Given the description of an element on the screen output the (x, y) to click on. 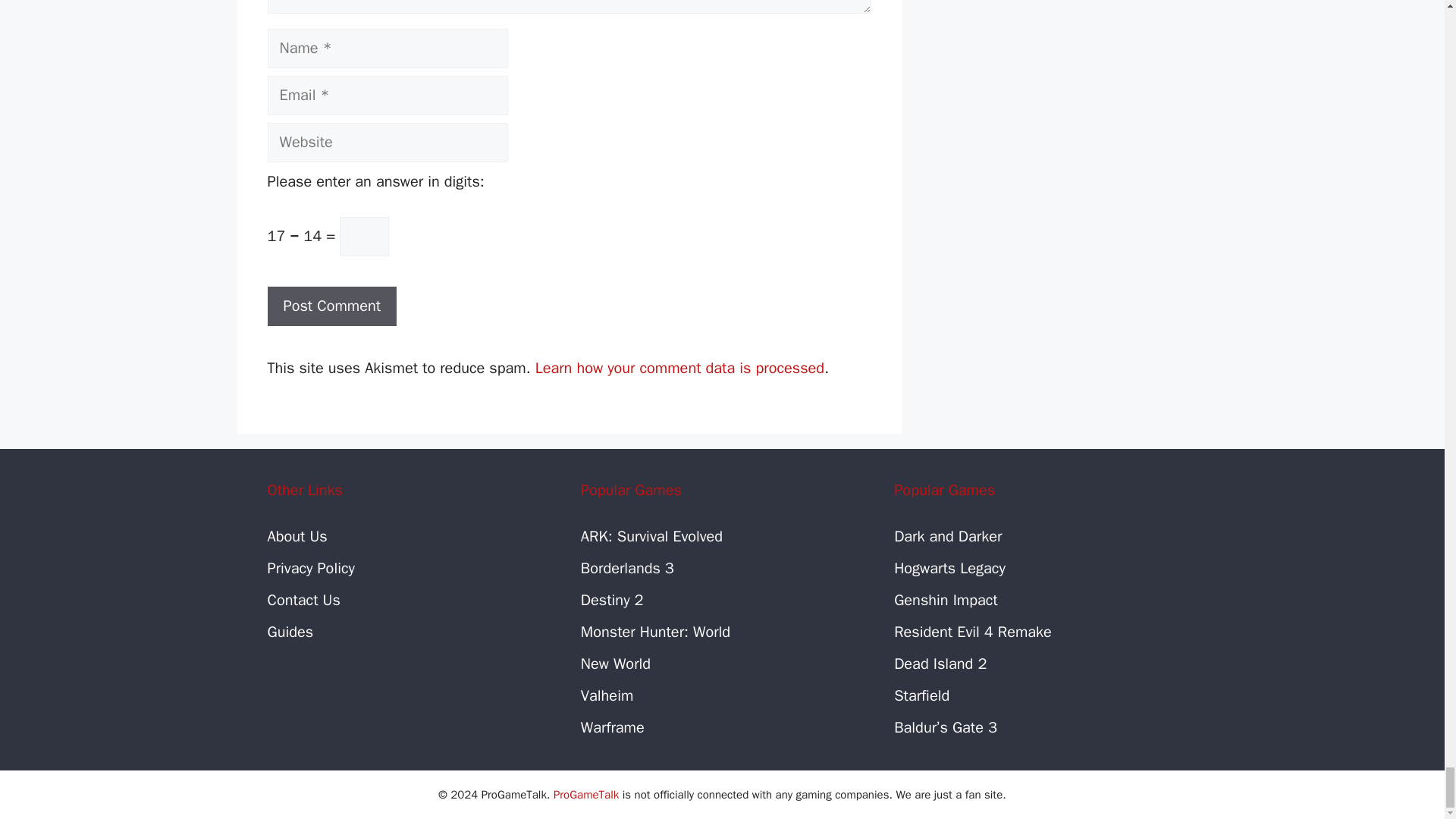
Post Comment (331, 305)
